Given the description of an element on the screen output the (x, y) to click on. 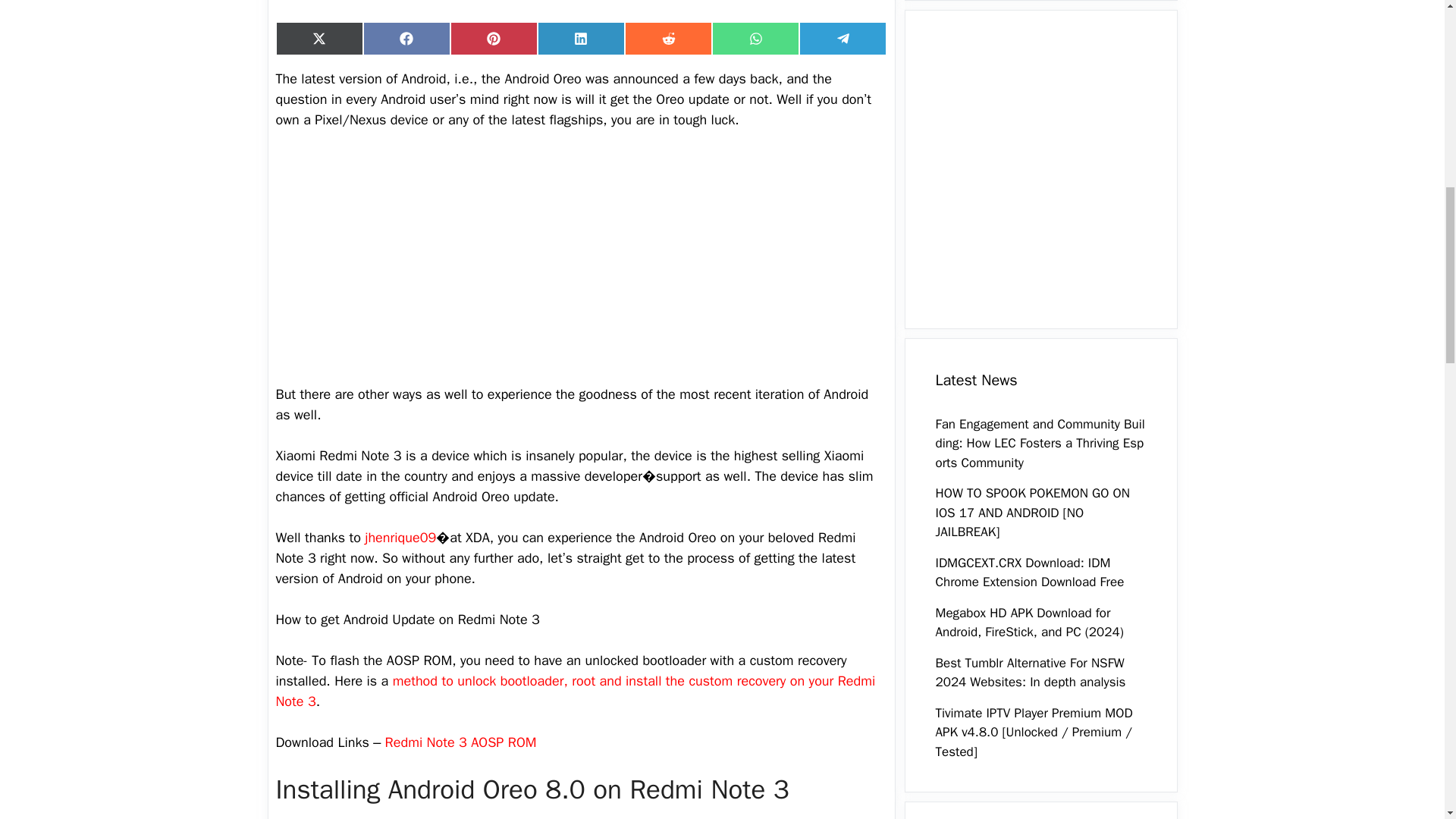
Scroll back to top (1406, 720)
